Given the description of an element on the screen output the (x, y) to click on. 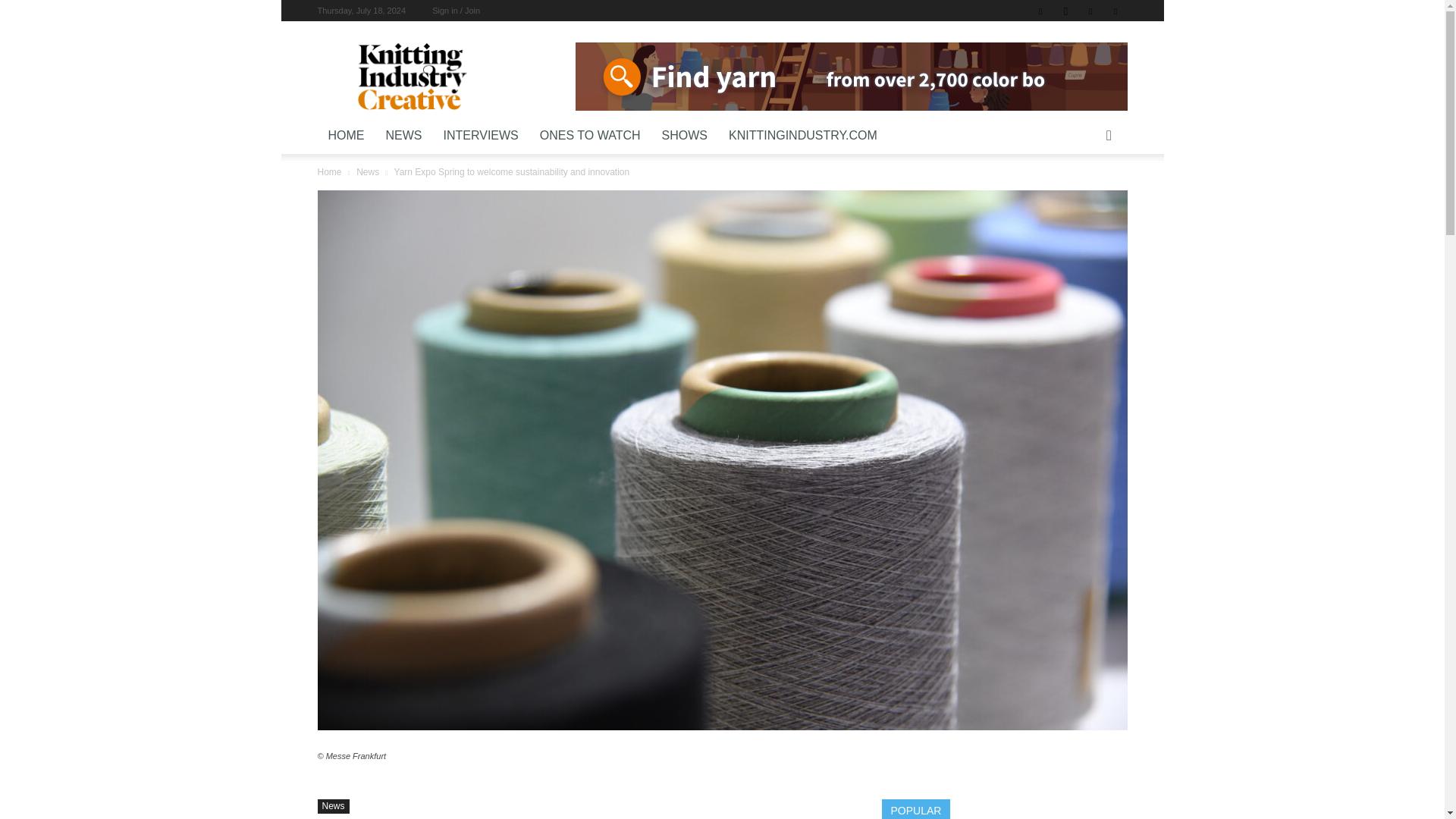
Twitter (1114, 10)
HOME (345, 135)
KNITTINGINDUSTRY.COM (802, 135)
SHOWS (683, 135)
Linkedin (1090, 10)
Instagram (1065, 10)
INTERVIEWS (480, 135)
Facebook (1040, 10)
ONES TO WATCH (589, 135)
View all posts in News (367, 172)
NEWS (403, 135)
